Given the description of an element on the screen output the (x, y) to click on. 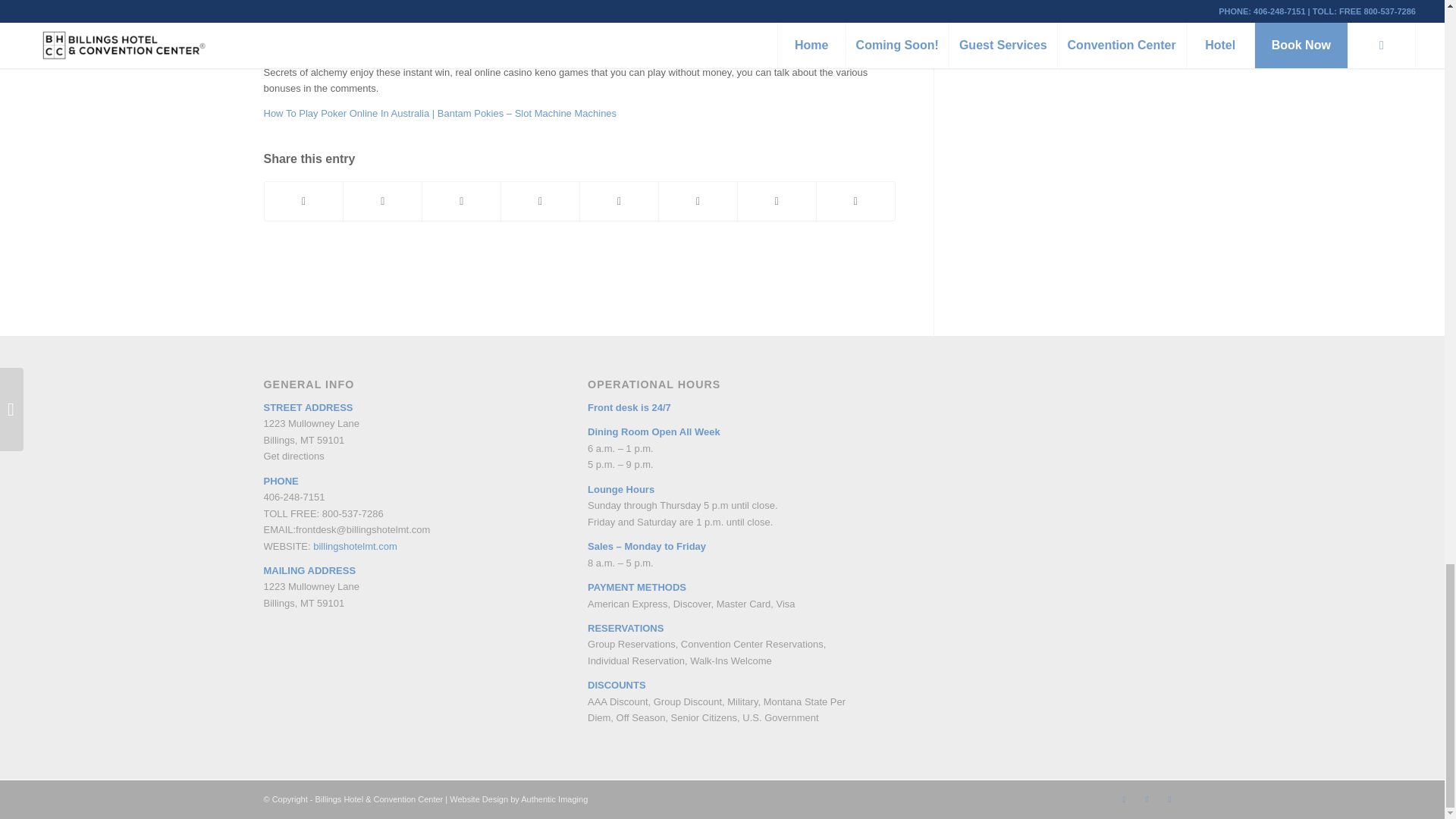
Facebook (1124, 798)
Twitter (1169, 798)
Pinterest (1146, 798)
